Given the description of an element on the screen output the (x, y) to click on. 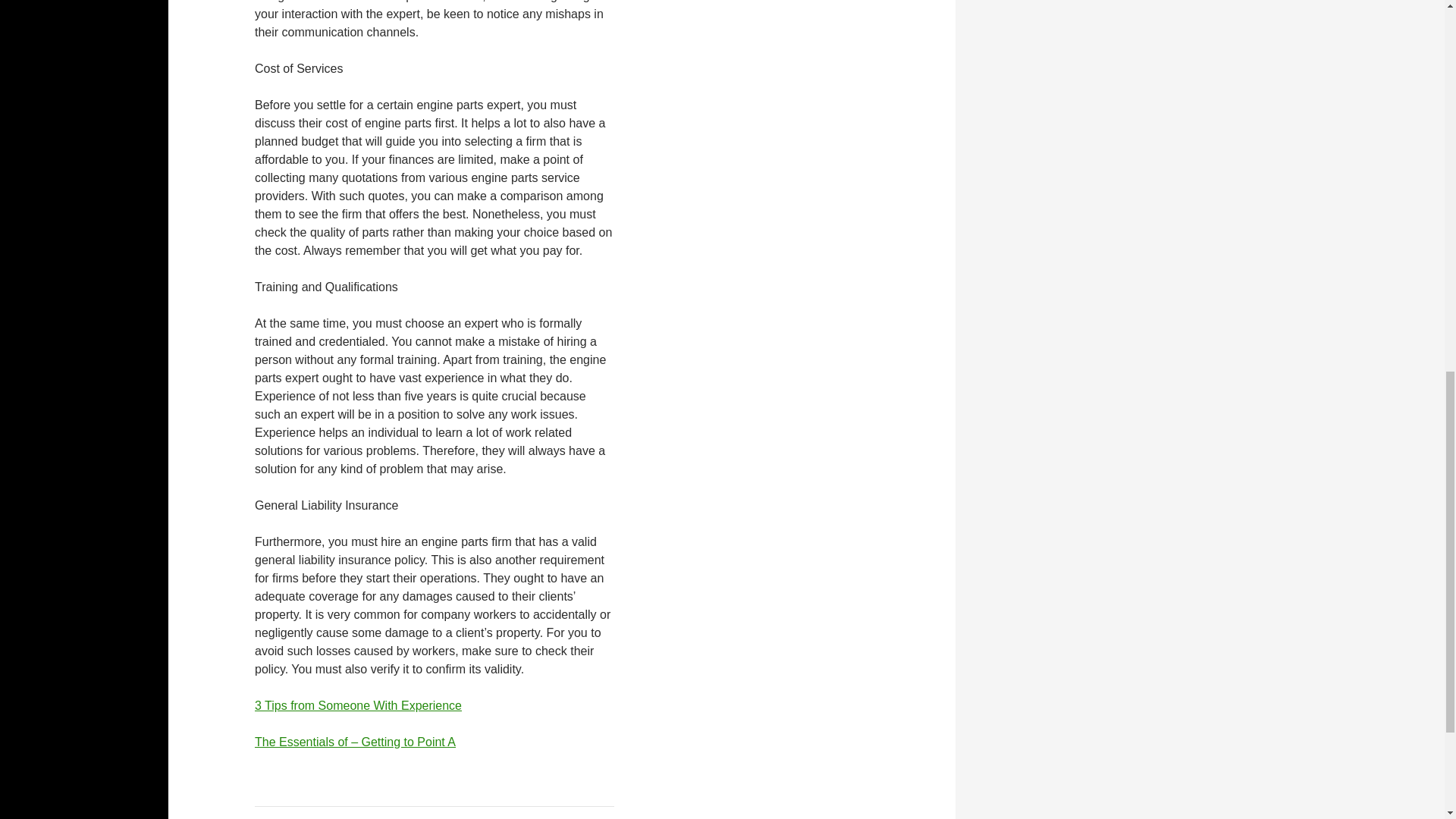
3 Tips from Someone With Experience (357, 705)
